Given the description of an element on the screen output the (x, y) to click on. 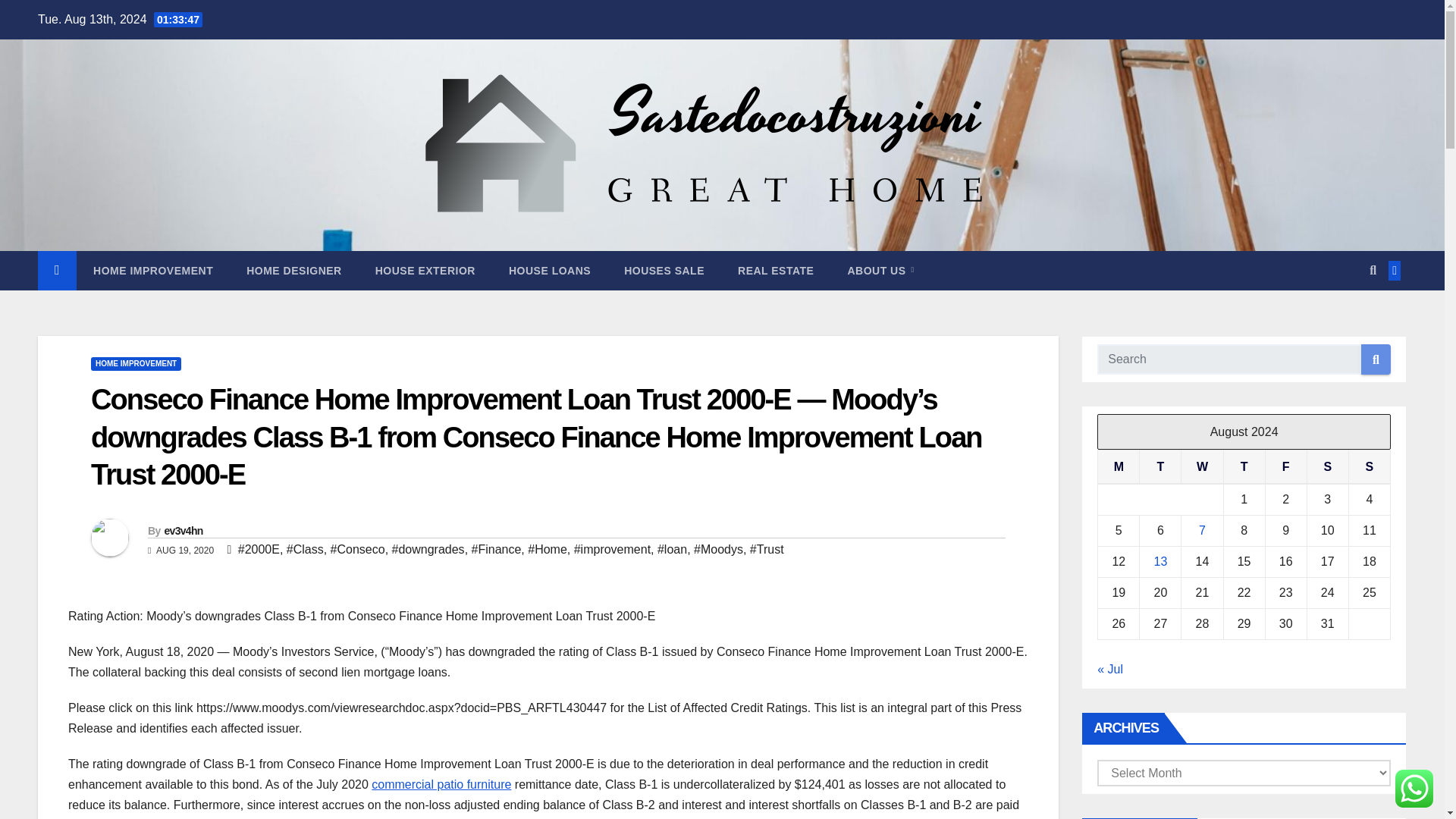
real estate (774, 270)
HOUSE LOANS (549, 270)
Home Designer (294, 270)
ev3v4hn (182, 530)
HOUSES SALE (663, 270)
HOUSE EXTERIOR (425, 270)
House Loans (549, 270)
Houses Sale (663, 270)
HOME IMPROVEMENT (153, 270)
House Exterior (425, 270)
